Given the description of an element on the screen output the (x, y) to click on. 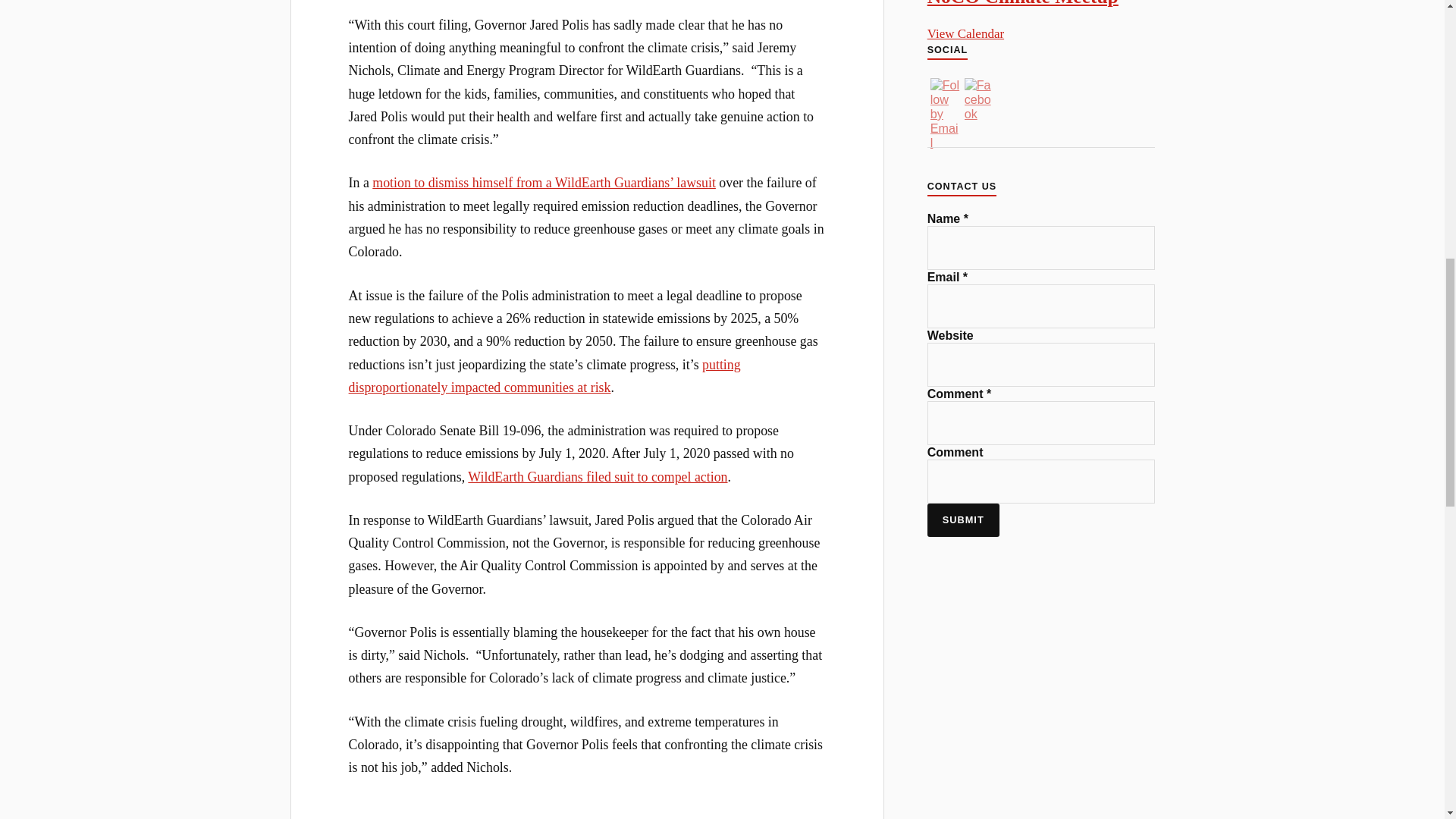
NoCO Climate Meetup (1022, 3)
View Calendar (965, 33)
WildEarth Guardians filed suit to compel action (596, 476)
NoCO Climate Meetup (1022, 3)
View more events. (965, 33)
putting disproportionately impacted communities at risk (545, 375)
